Given the description of an element on the screen output the (x, y) to click on. 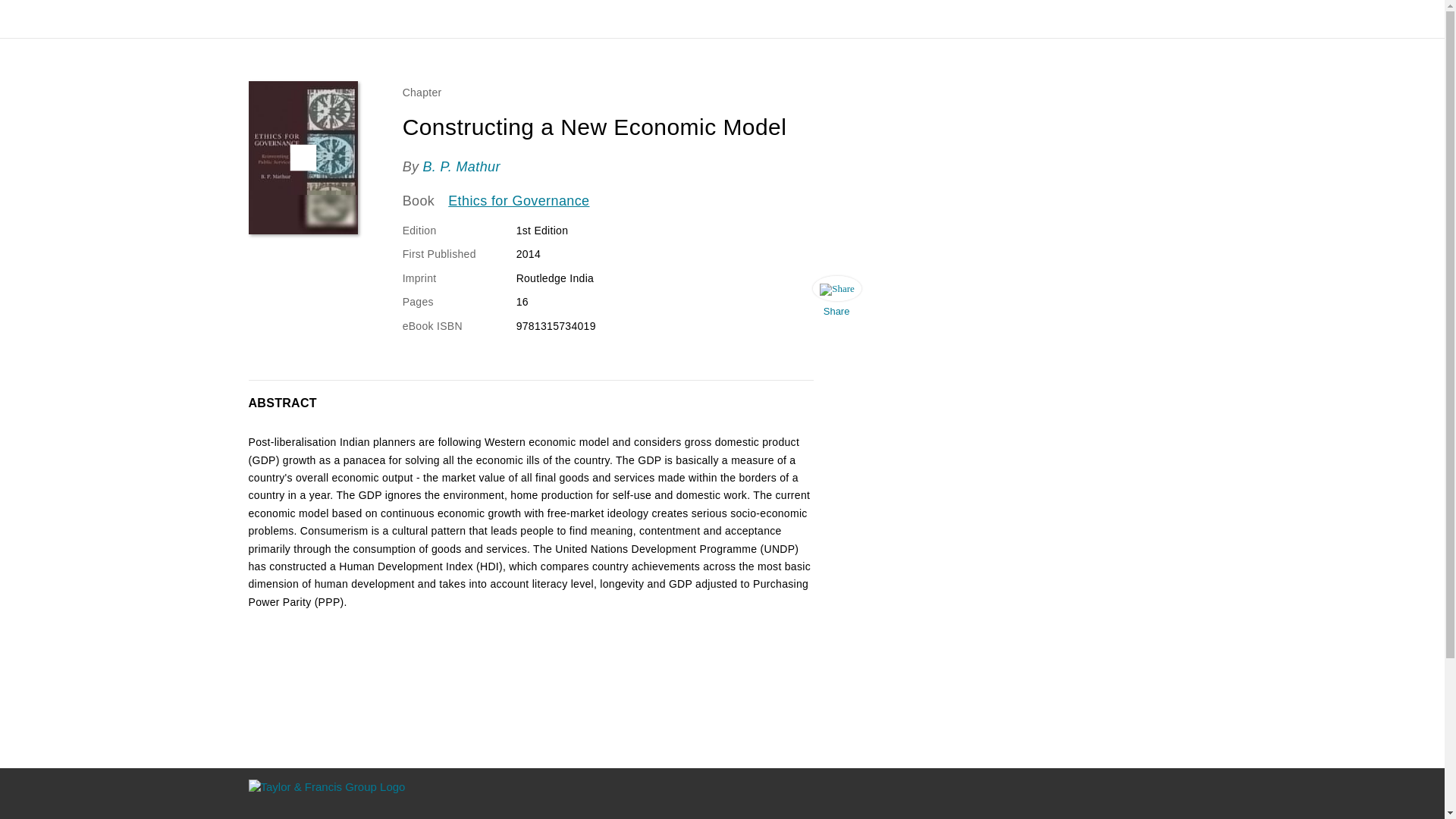
Ethics for Governance (518, 201)
Share (836, 299)
B. P. Mathur (460, 166)
